Given the description of an element on the screen output the (x, y) to click on. 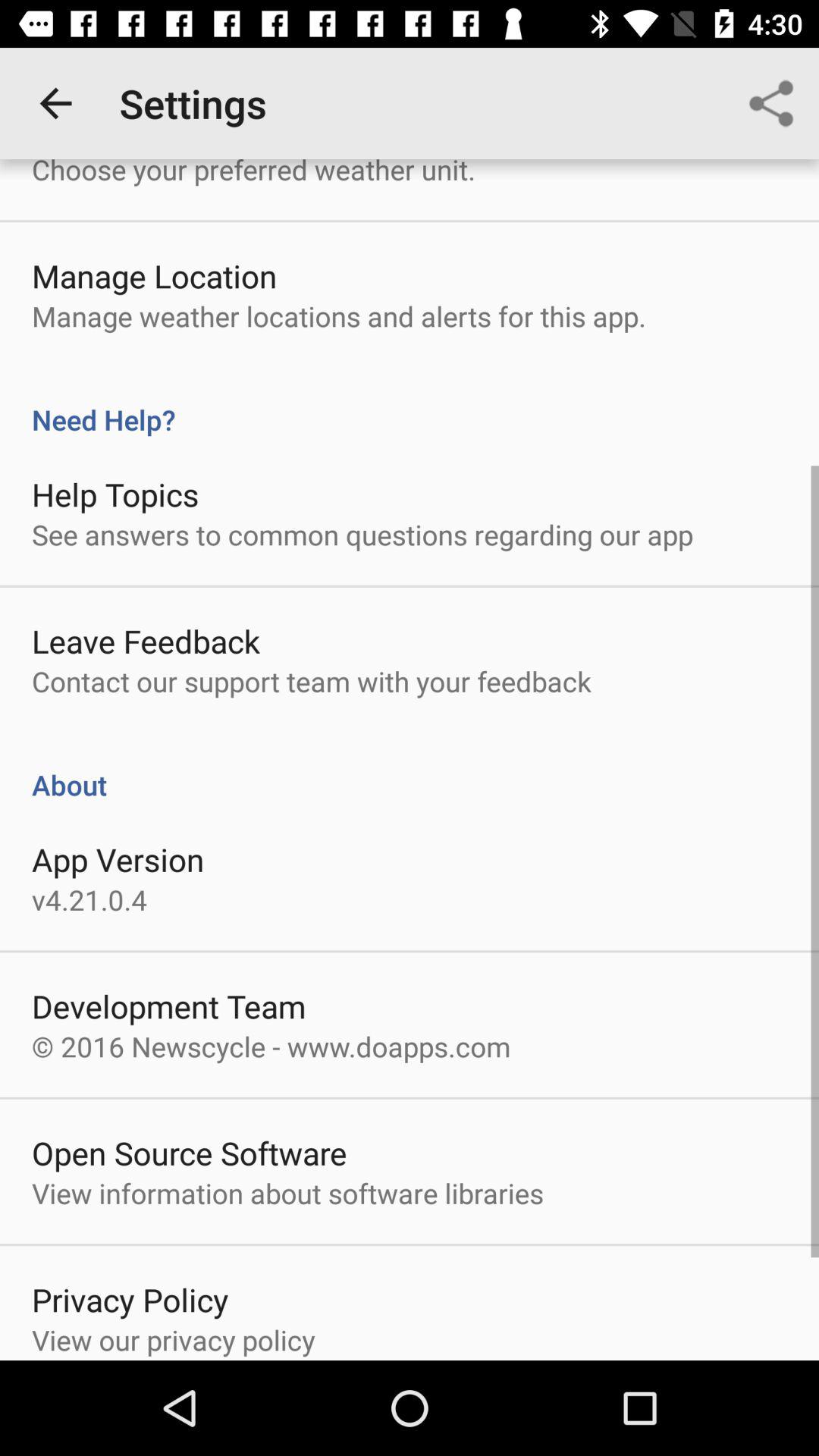
jump to the app version icon (117, 858)
